Given the description of an element on the screen output the (x, y) to click on. 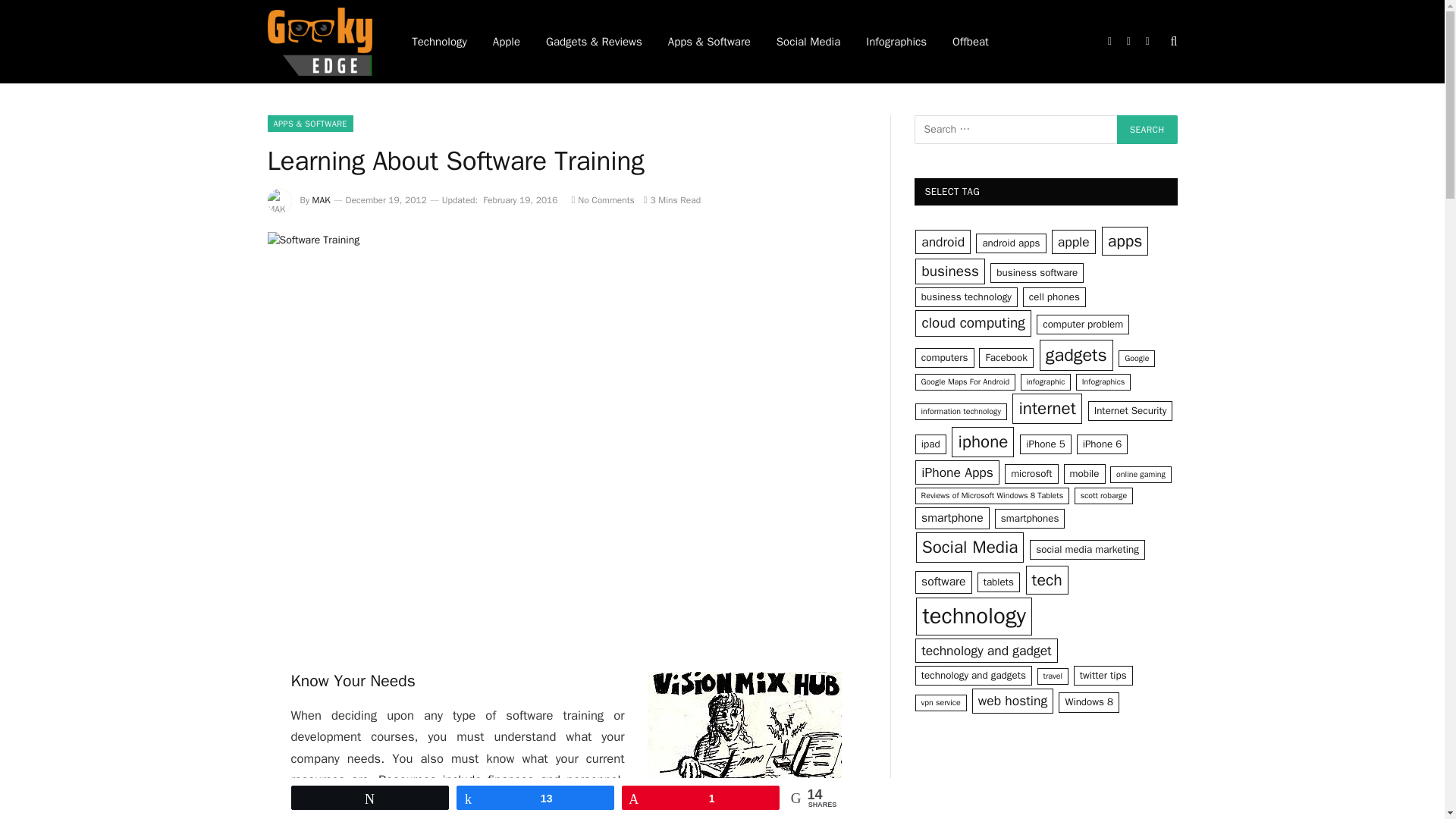
Posts by MAK (321, 200)
Infographics (896, 41)
MAK (321, 200)
Social Media (807, 41)
Technology (439, 41)
Search (1146, 129)
Search (1146, 129)
No Comments (601, 200)
Software Training (744, 731)
